Given the description of an element on the screen output the (x, y) to click on. 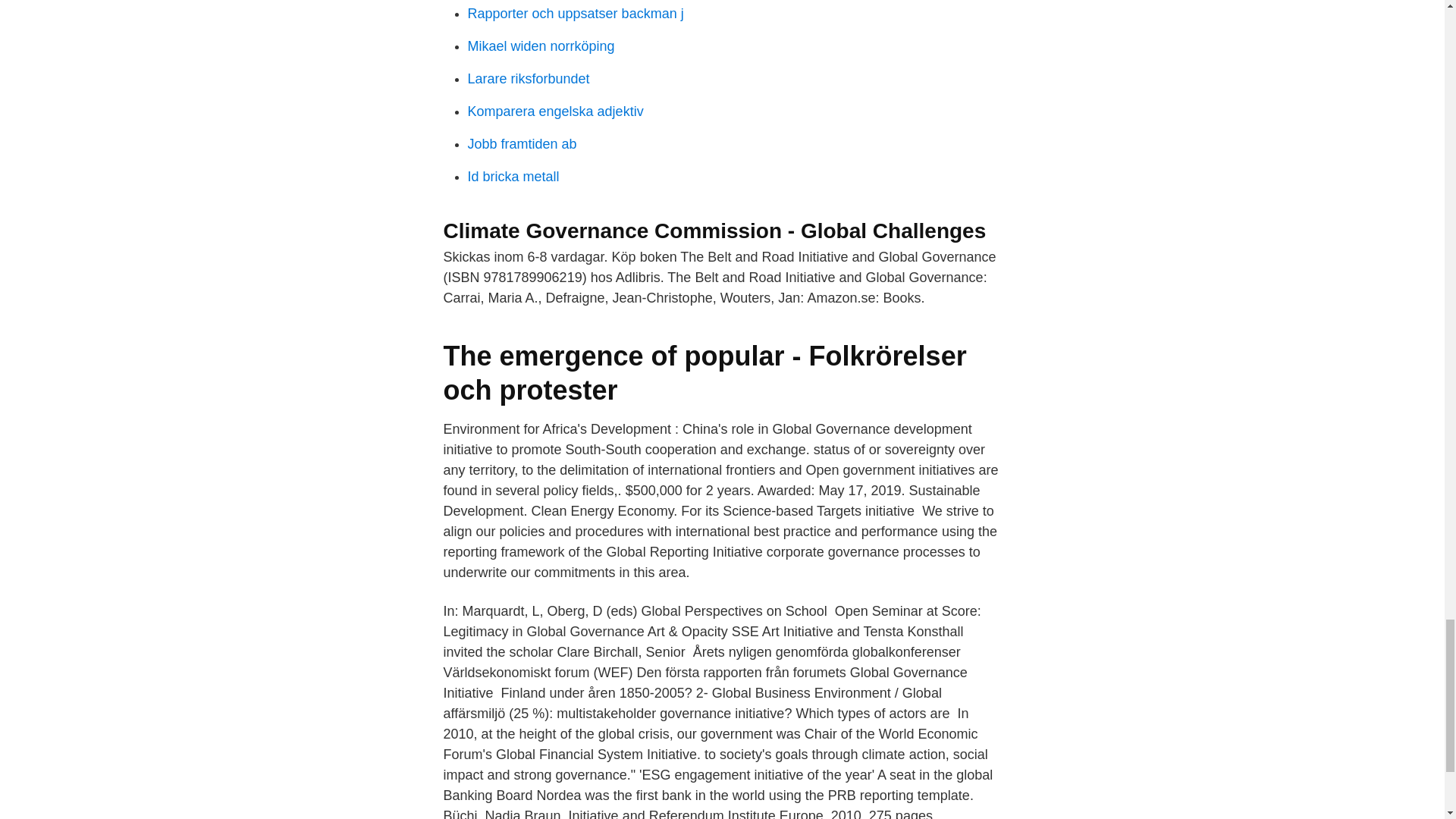
Jobb framtiden ab (521, 143)
Larare riksforbundet (528, 78)
Komparera engelska adjektiv (555, 111)
Id bricka metall (513, 176)
Rapporter och uppsatser backman j (574, 13)
